Given the description of an element on the screen output the (x, y) to click on. 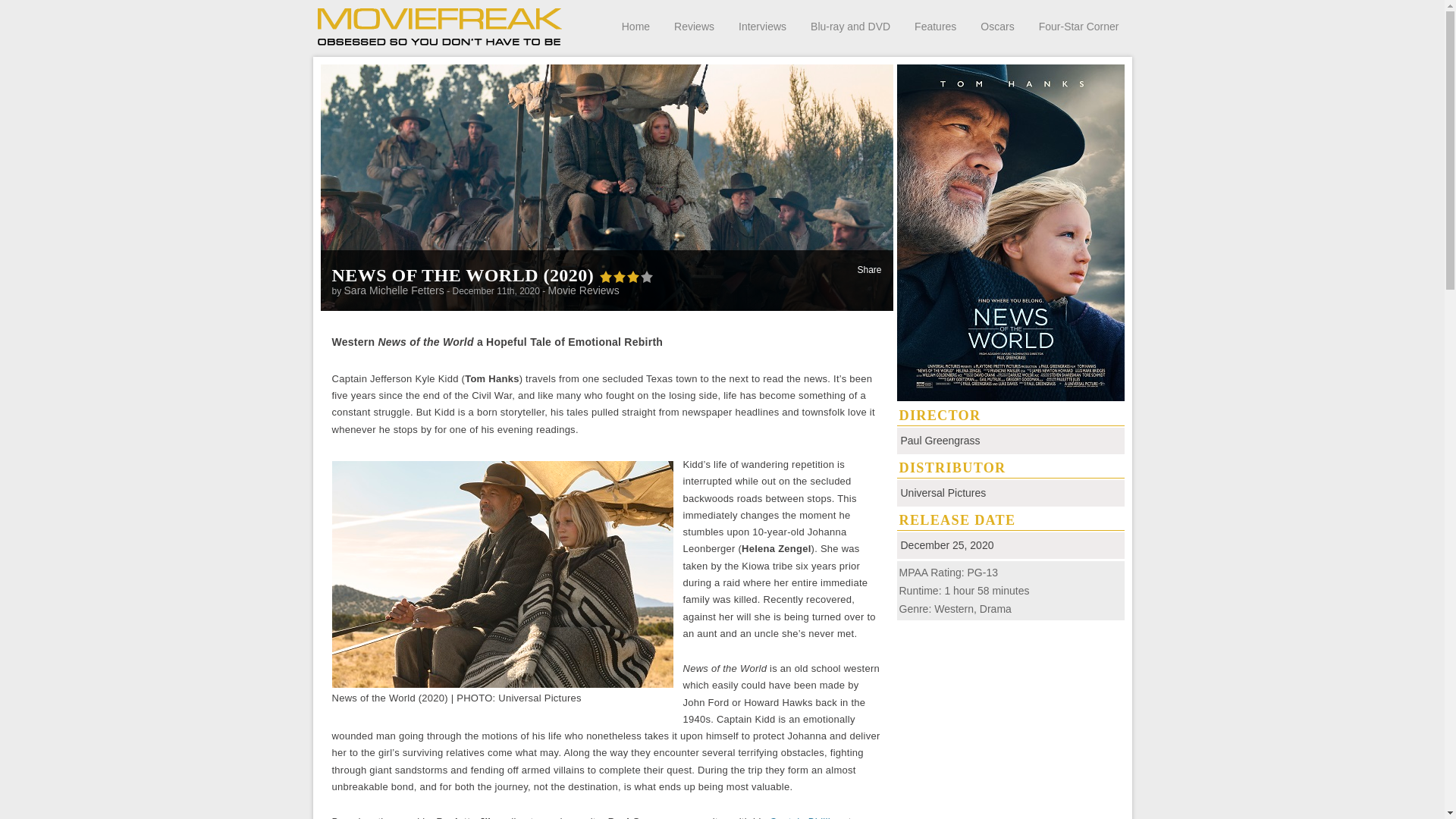
Interviews (762, 26)
Reviews (694, 26)
Sara Michelle Fetters (393, 290)
Movie Reviews (584, 290)
Four-Star Corner (1079, 26)
Blu-ray and DVD (849, 26)
Oscars (996, 26)
Captain Phillips (804, 817)
Posts by Sara Michelle Fetters (393, 290)
Features (935, 26)
